Given the description of an element on the screen output the (x, y) to click on. 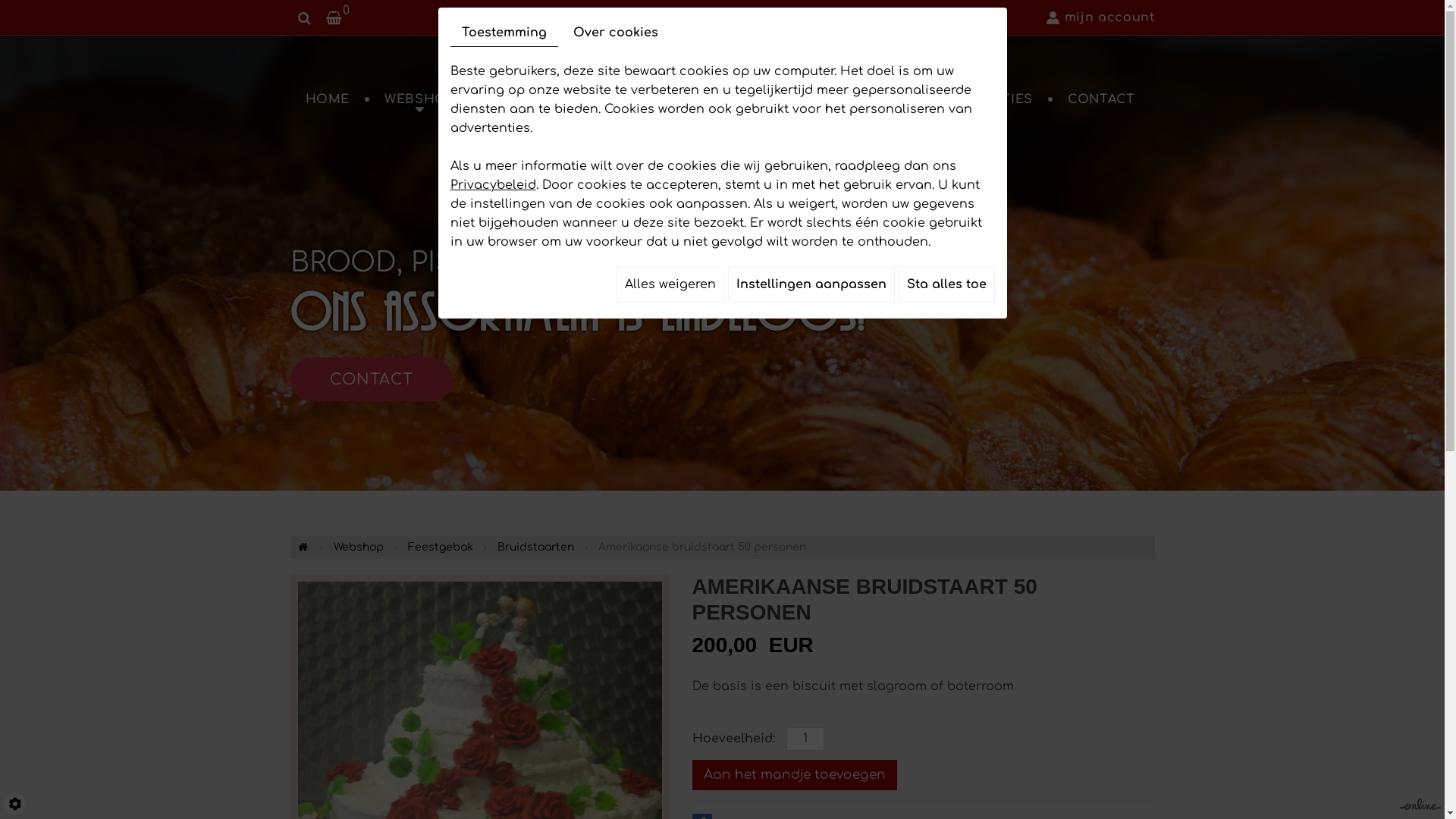
Sta alles toe Element type: text (945, 284)
ACTIES Element type: text (1007, 98)
Bakkerij Vanderveken - Banketbakkerij Element type: hover (701, 99)
CONTACT Element type: text (370, 379)
Feestgebak Element type: text (440, 546)
FEESTTAARTEN Element type: text (896, 98)
1 Element type: hover (804, 738)
CONTACT Element type: text (1101, 98)
Toestemming Element type: text (504, 33)
Webshop Element type: text (358, 546)
Alles weigeren Element type: text (669, 284)
Privacybeleid Element type: text (493, 184)
WEBSHOP Element type: text (418, 98)
Cookie-instelling bewerken Element type: text (14, 803)
mijn account Element type: text (1100, 17)
Bruidstaarten Element type: text (535, 546)
HOME Element type: text (327, 98)
Instellingen aanpassen Element type: text (811, 284)
Over cookies Element type: text (614, 32)
Aan het mandje toevoegen Element type: text (793, 774)
BAKKERIJ Element type: text (522, 98)
